Given the description of an element on the screen output the (x, y) to click on. 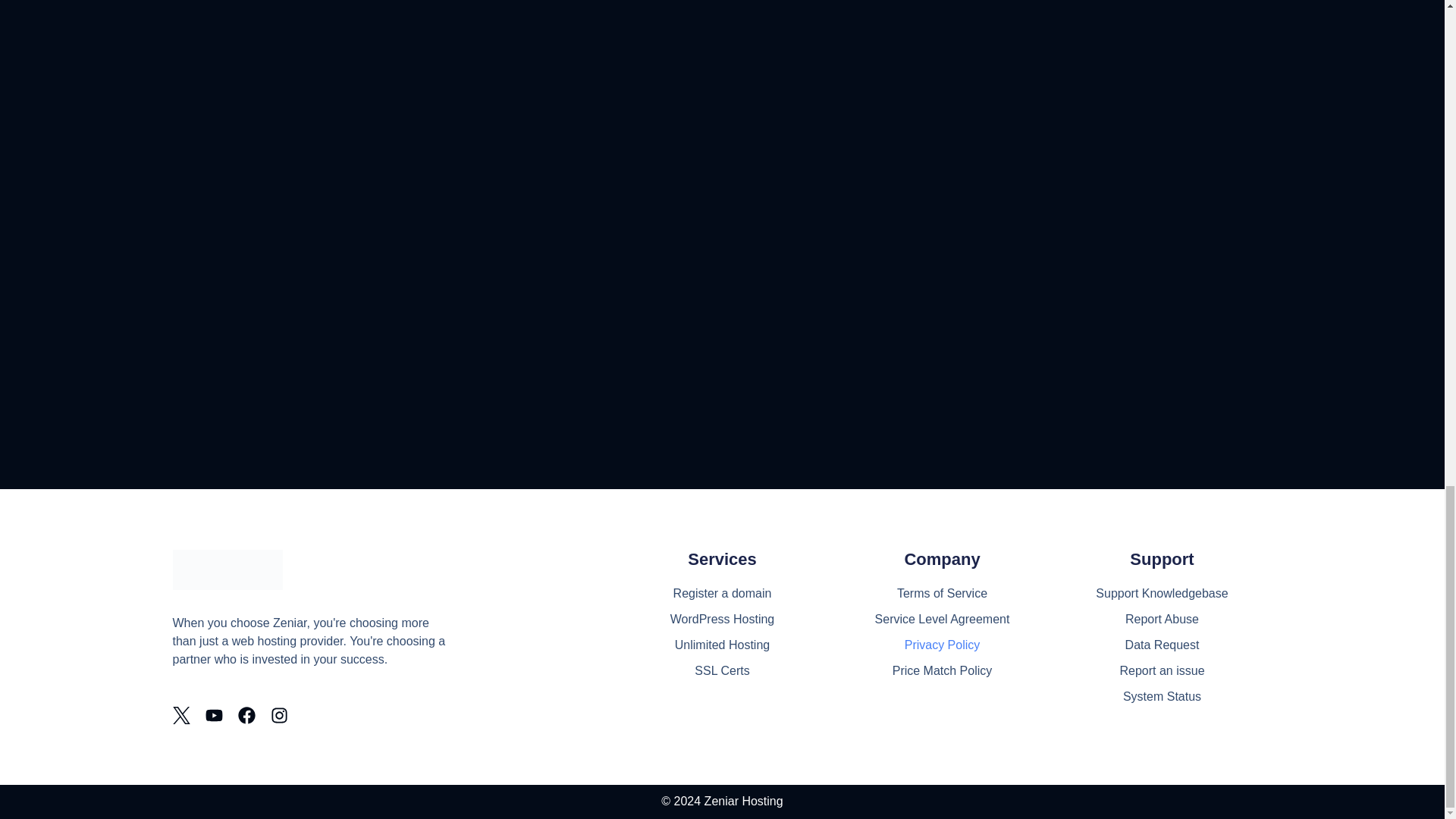
WordPress Hosting (722, 619)
Register a domain (722, 593)
SSL Certs (722, 670)
Unlimited Hosting (722, 645)
